Given the description of an element on the screen output the (x, y) to click on. 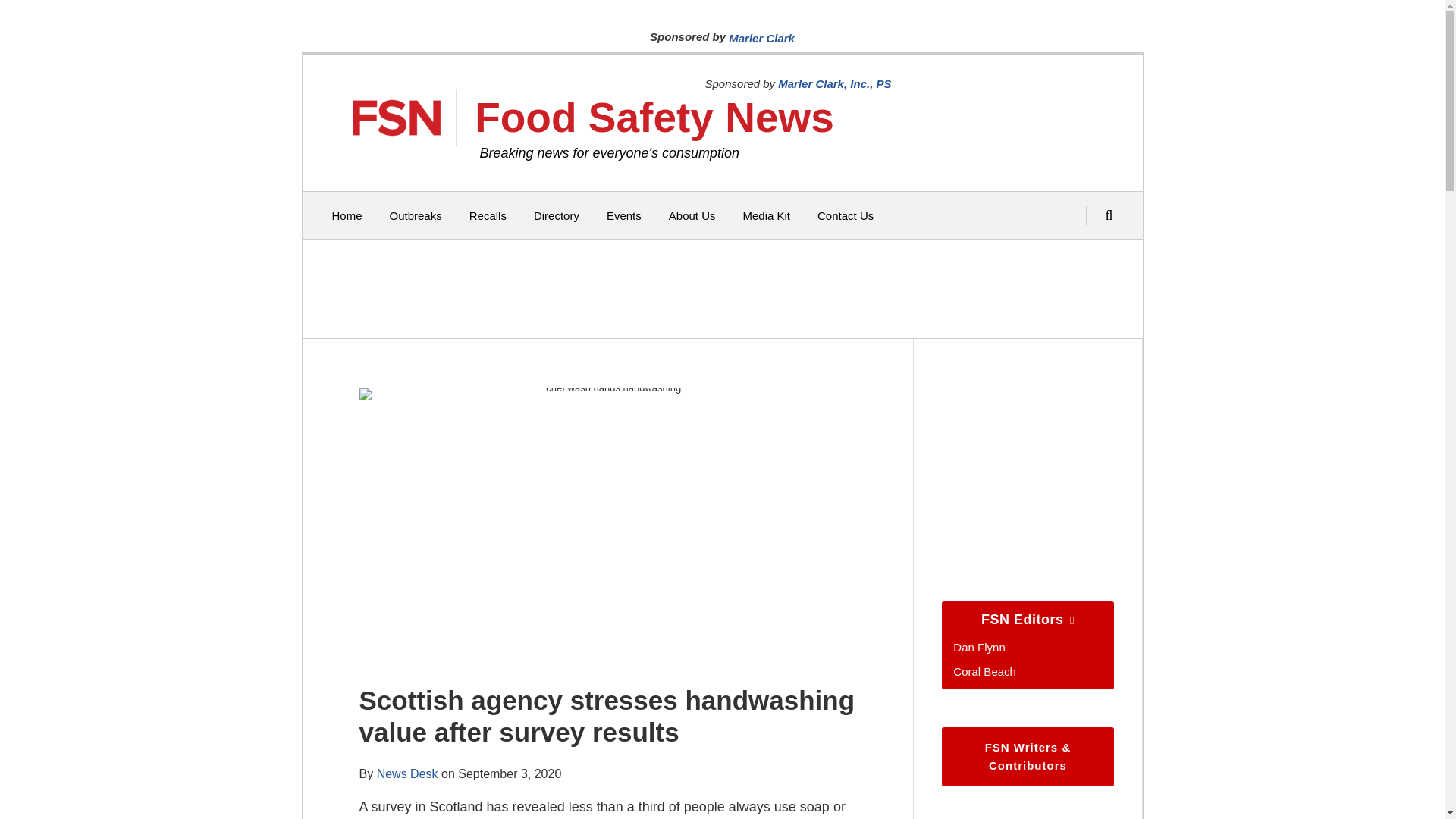
Media Kit (766, 215)
Contact Us (844, 215)
Events (624, 215)
Home (346, 215)
Marler Clark (761, 38)
Dan Flynn (978, 645)
Coral Beach (984, 670)
About Us (692, 215)
Marler Clark, Inc., PS (834, 83)
Food Safety News (654, 117)
Outbreaks (416, 215)
Directory (556, 215)
News Desk (407, 773)
Recalls (487, 215)
